Given the description of an element on the screen output the (x, y) to click on. 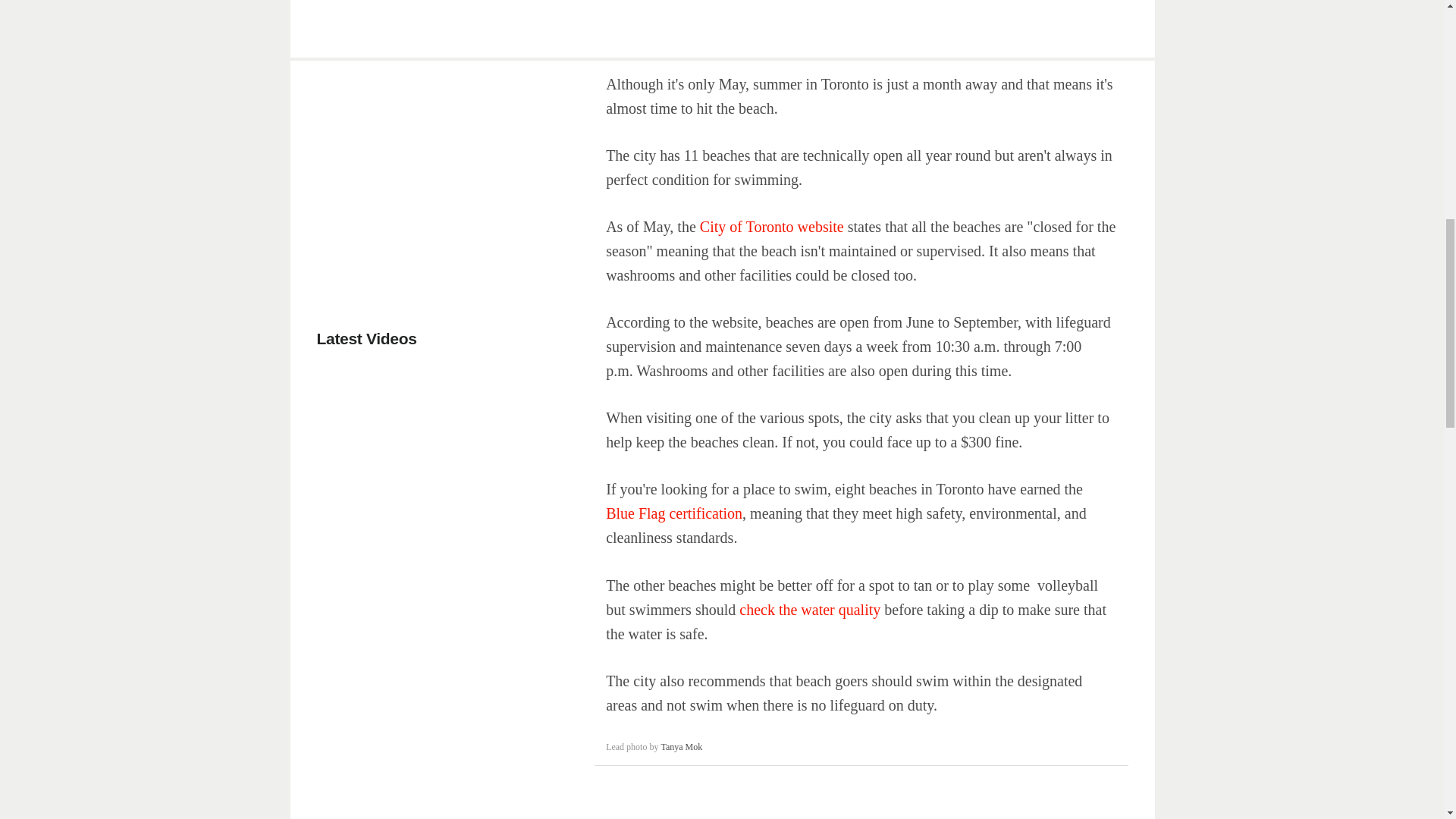
check the water quality (809, 609)
Blue Flag certification (673, 513)
City of Toronto website (772, 226)
